Given the description of an element on the screen output the (x, y) to click on. 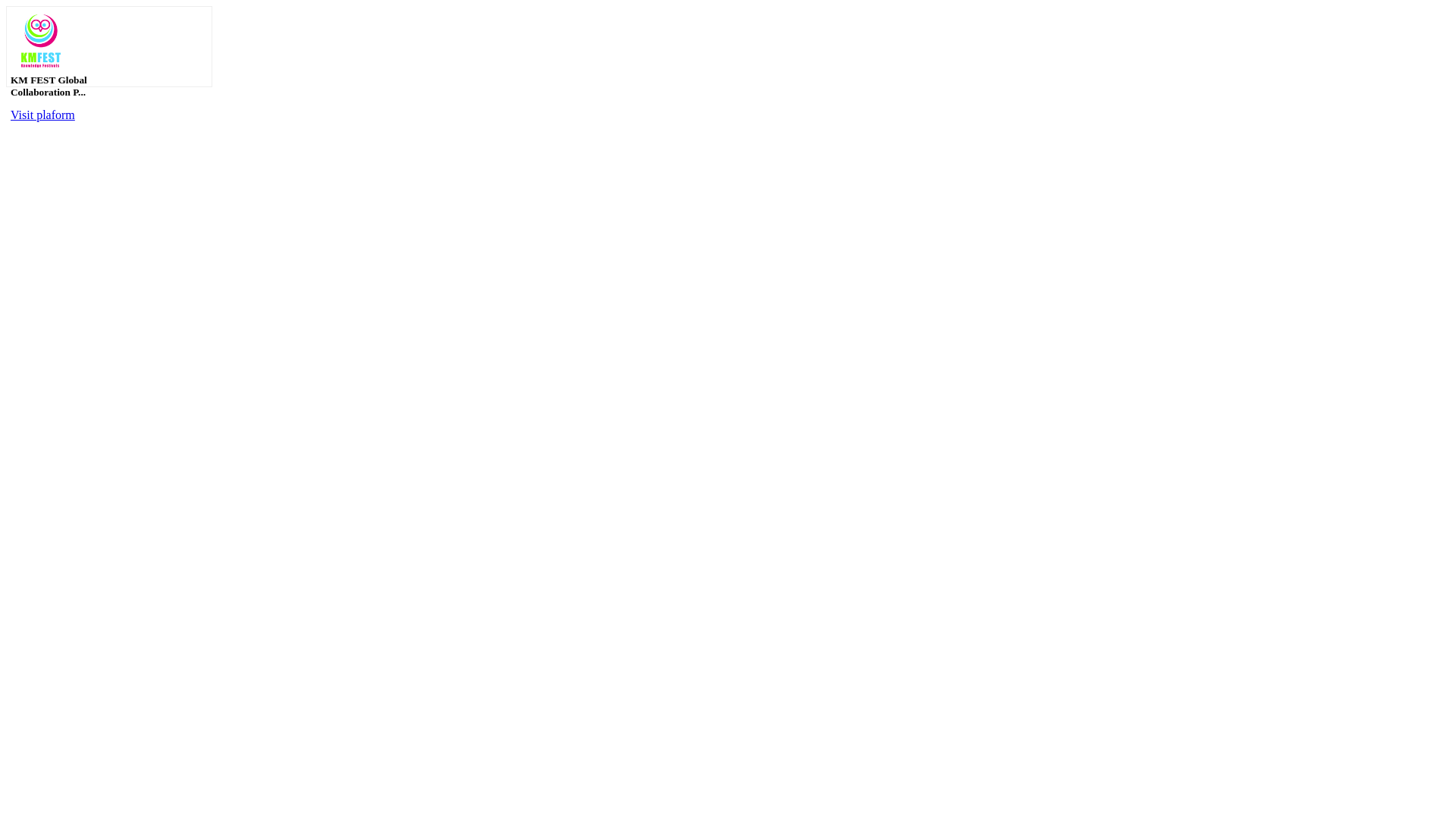
Visit plaform Element type: text (42, 114)
KM FEST Global Collaboration Platform Element type: hover (40, 40)
